Given the description of an element on the screen output the (x, y) to click on. 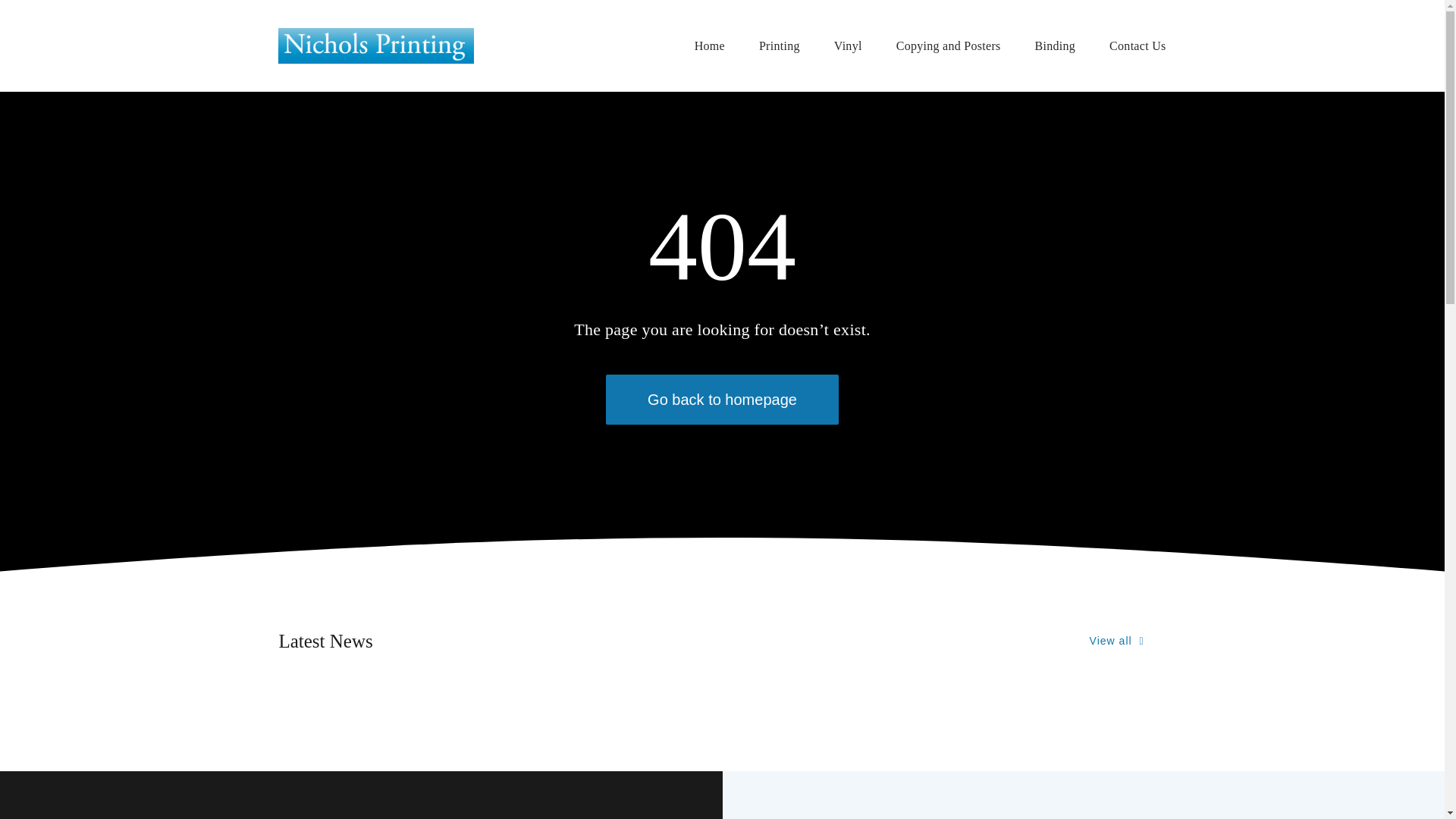
Printing Element type: text (779, 45)
Home Element type: text (709, 45)
Contact Us Element type: text (1137, 45)
Copying and Posters Element type: text (948, 45)
Go back to homepage Element type: text (721, 399)
Vinyl Element type: text (848, 45)
Binding Element type: text (1055, 45)
View all Element type: text (1116, 640)
